Given the description of an element on the screen output the (x, y) to click on. 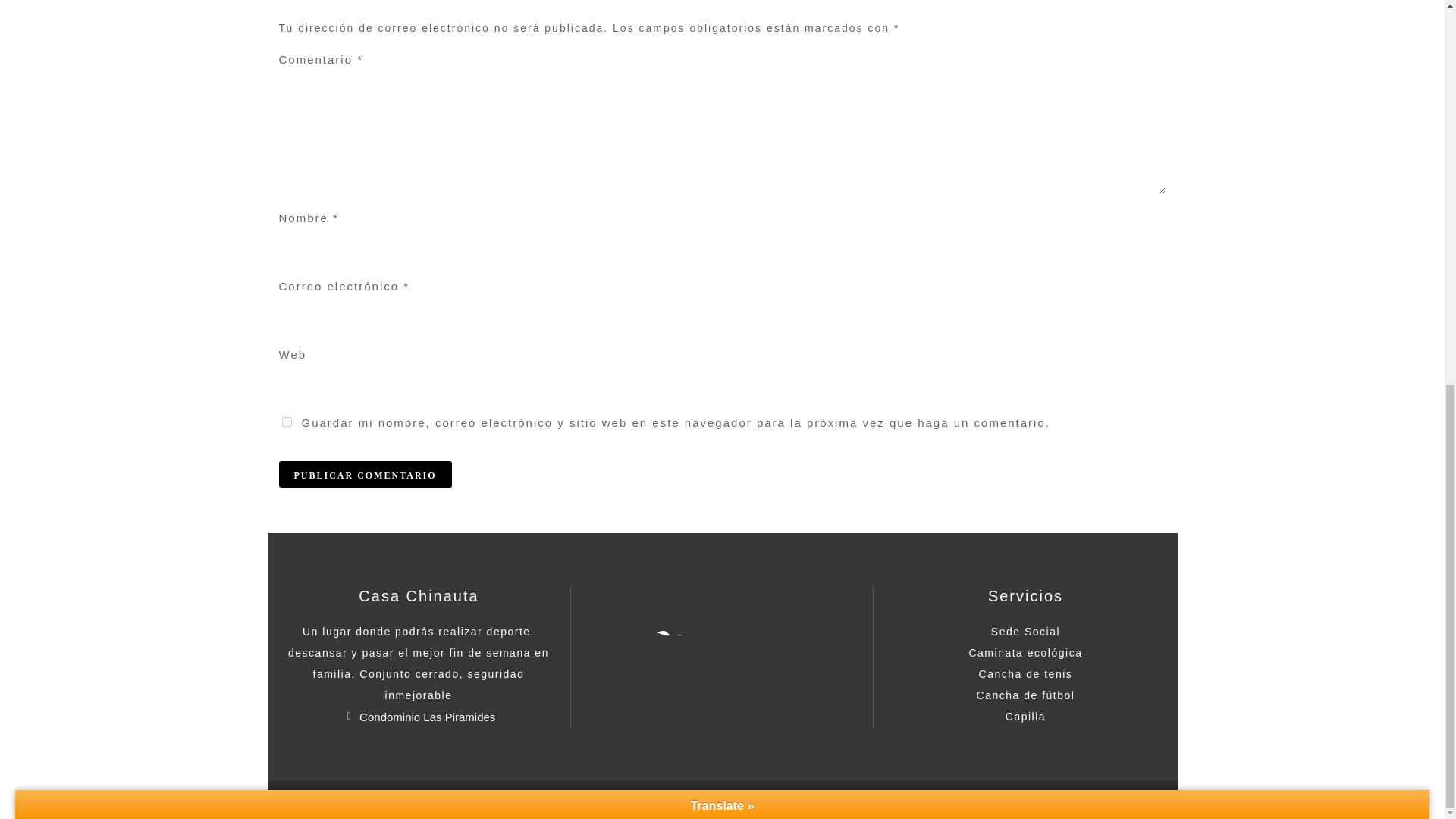
Publicar comentario (365, 474)
yes (287, 421)
Publicar comentario (365, 474)
Condominio Las Piramides (419, 716)
